Given the description of an element on the screen output the (x, y) to click on. 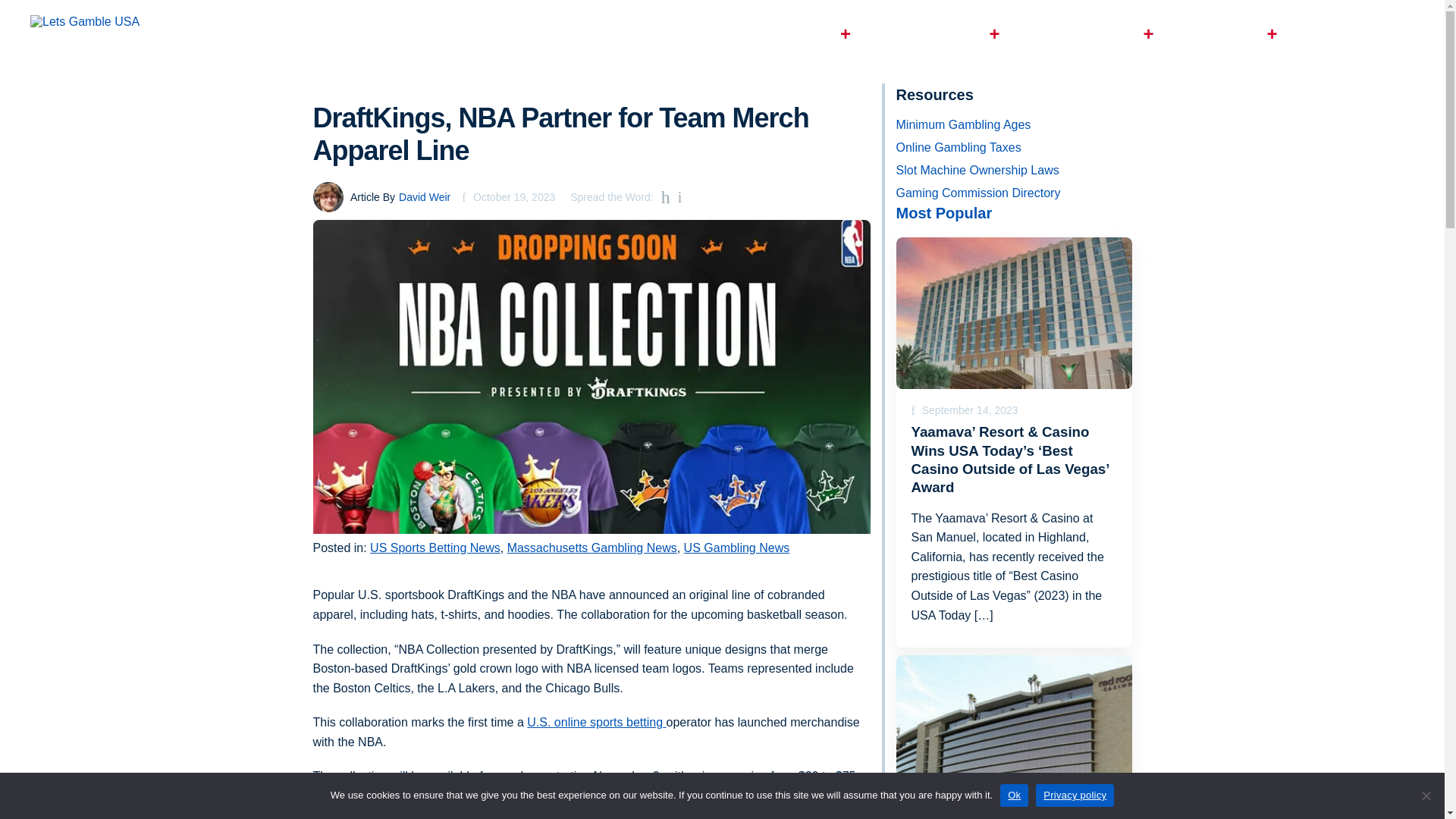
Casino Reviews (940, 34)
Deposit Methods (1091, 34)
Massachusetts retail sportsbooks (611, 814)
Best Online Casinos (780, 34)
Massachusetts Gambling News (591, 547)
US Gambling News (737, 547)
Article ByDavid Weir (381, 196)
News (1340, 34)
U.S. online sports betting (596, 721)
State Laws (1230, 34)
